Given the description of an element on the screen output the (x, y) to click on. 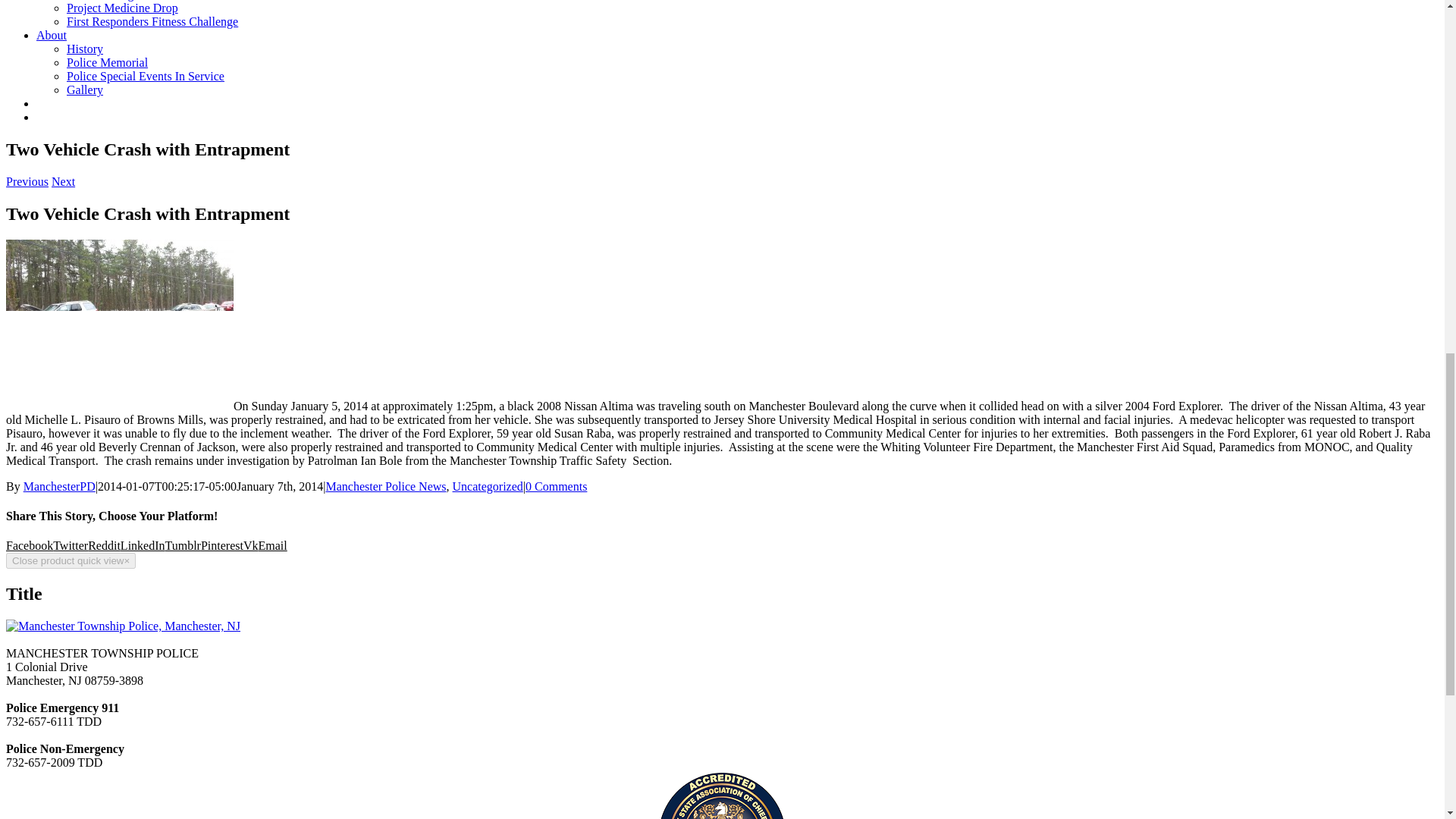
Vk (251, 545)
Pinterest (221, 545)
Tumblr (182, 545)
Email (272, 545)
Facebook (28, 545)
Posts by ManchesterPD (59, 486)
Twitter (69, 545)
LinkedIn (142, 545)
Reddit (103, 545)
